Given the description of an element on the screen output the (x, y) to click on. 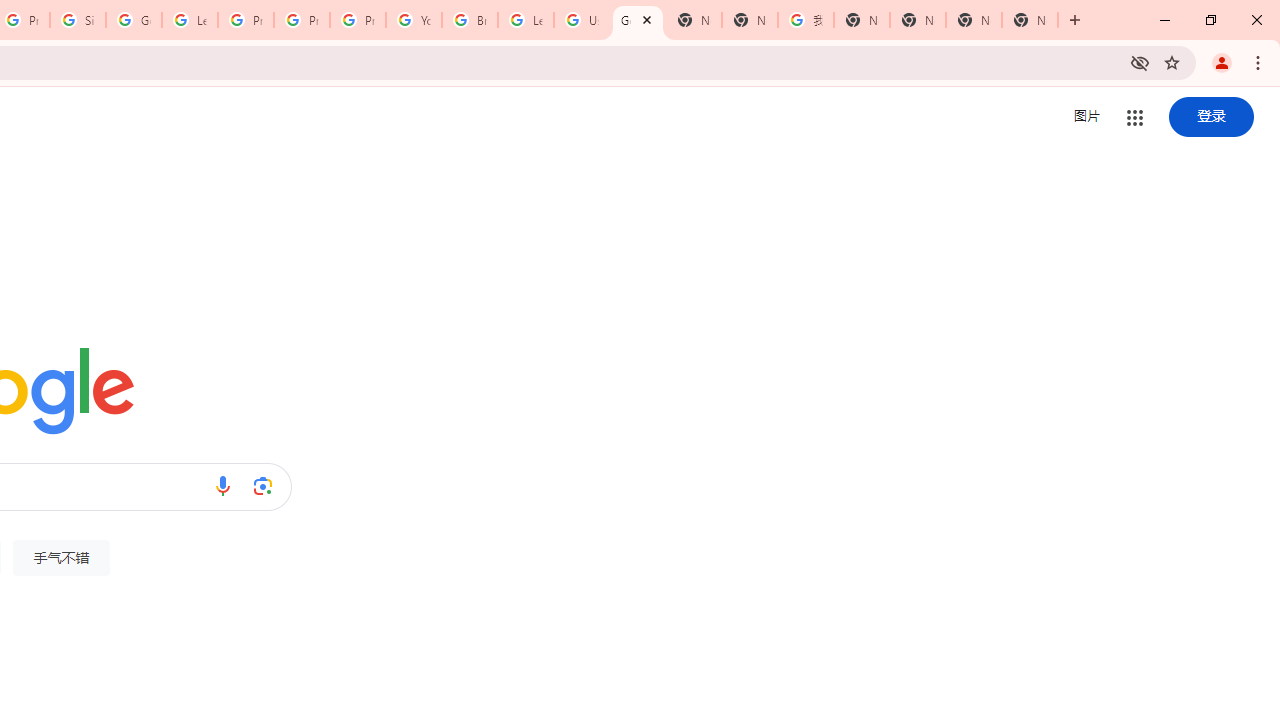
YouTube (413, 20)
New Tab (693, 20)
New Tab (1030, 20)
Sign in - Google Accounts (77, 20)
